Given the description of an element on the screen output the (x, y) to click on. 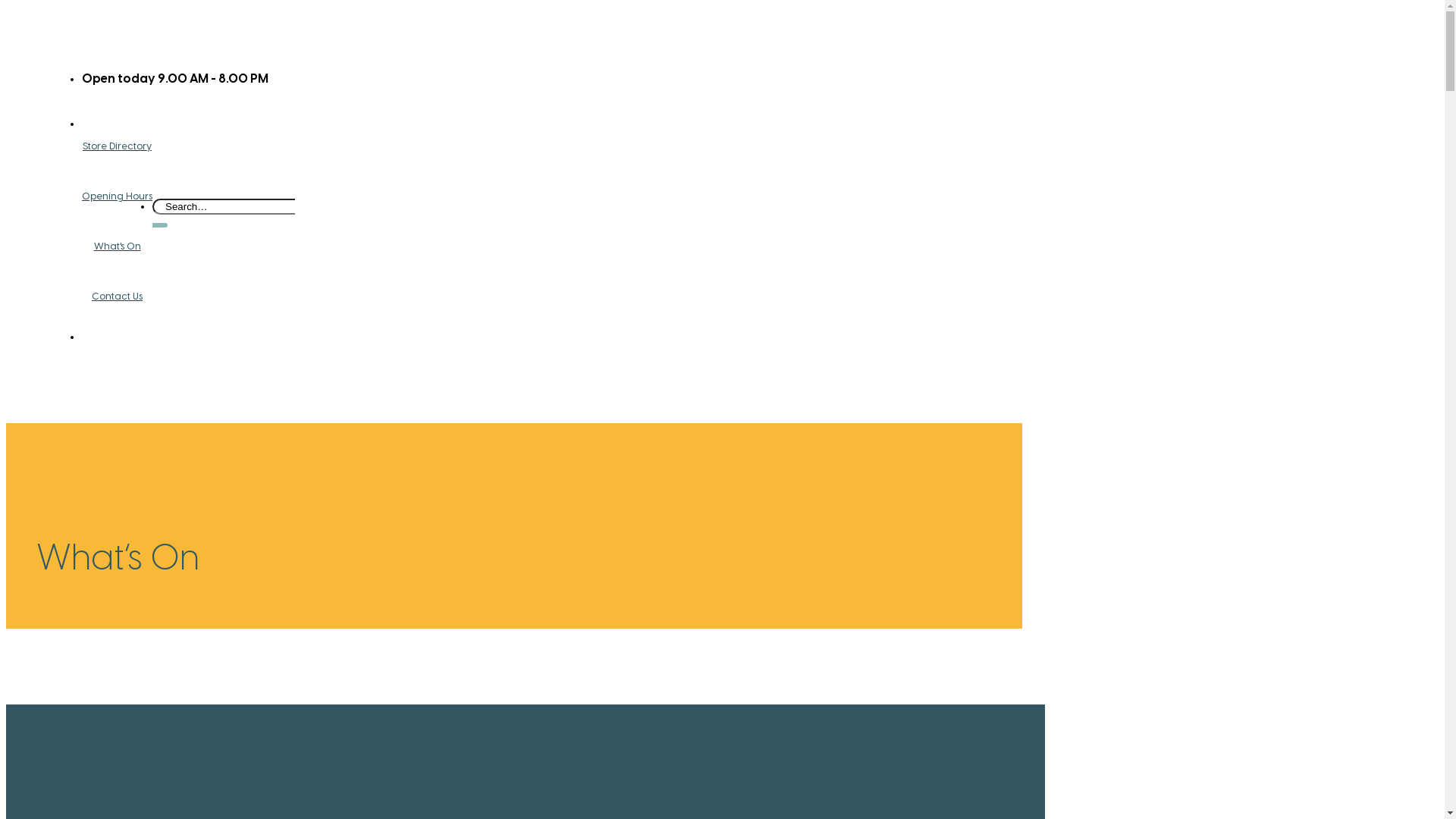
What's On Element type: text (116, 236)
Opening Hours Element type: text (116, 186)
Store Directory Element type: text (116, 136)
Contact Us Element type: text (116, 287)
Skip to content Element type: text (5, 5)
